Given the description of an element on the screen output the (x, y) to click on. 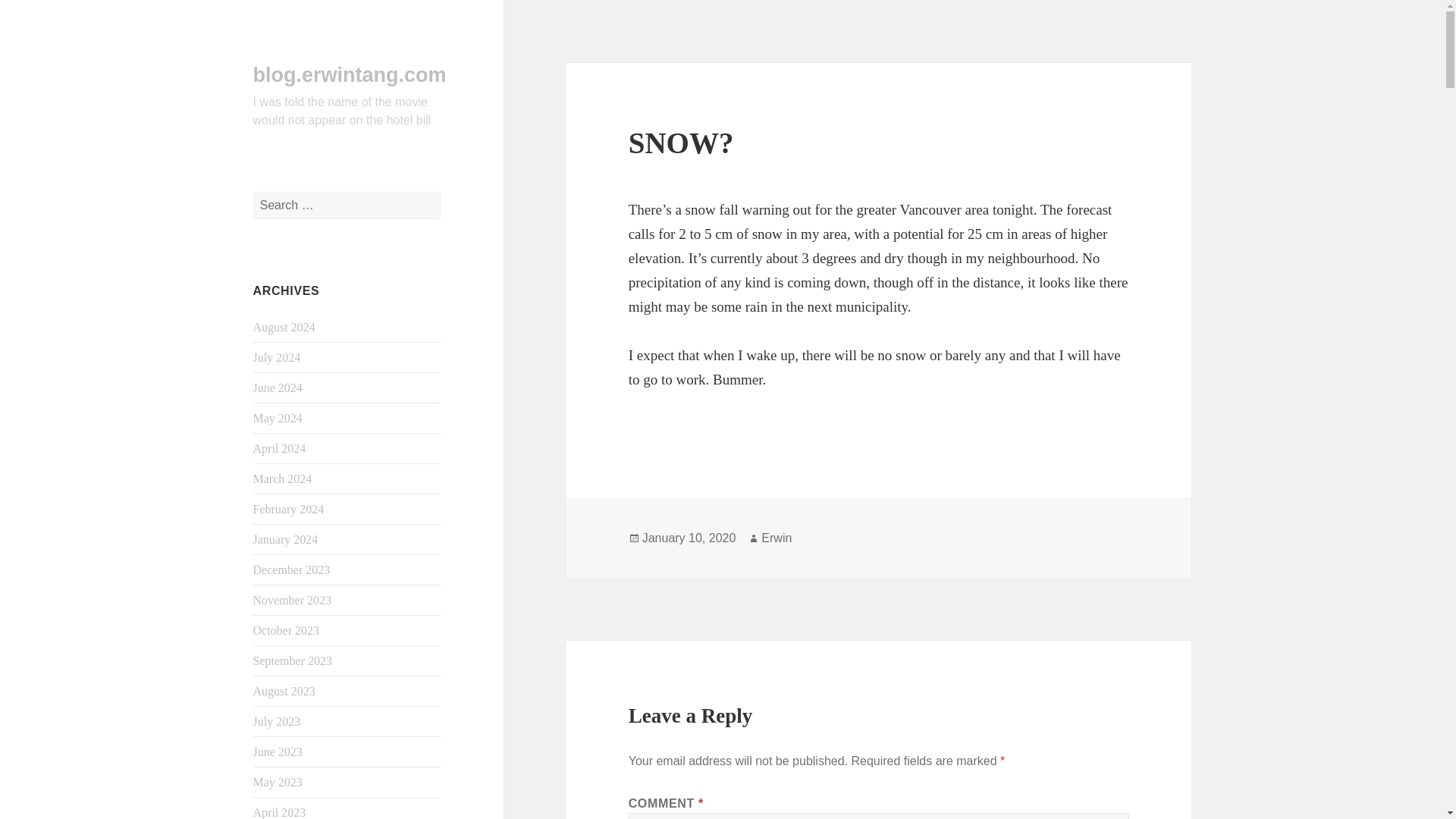
June 2023 (277, 751)
September 2023 (292, 660)
April 2023 (279, 812)
August 2023 (284, 690)
July 2024 (277, 357)
August 2024 (284, 327)
May 2024 (277, 418)
April 2024 (279, 448)
